Given the description of an element on the screen output the (x, y) to click on. 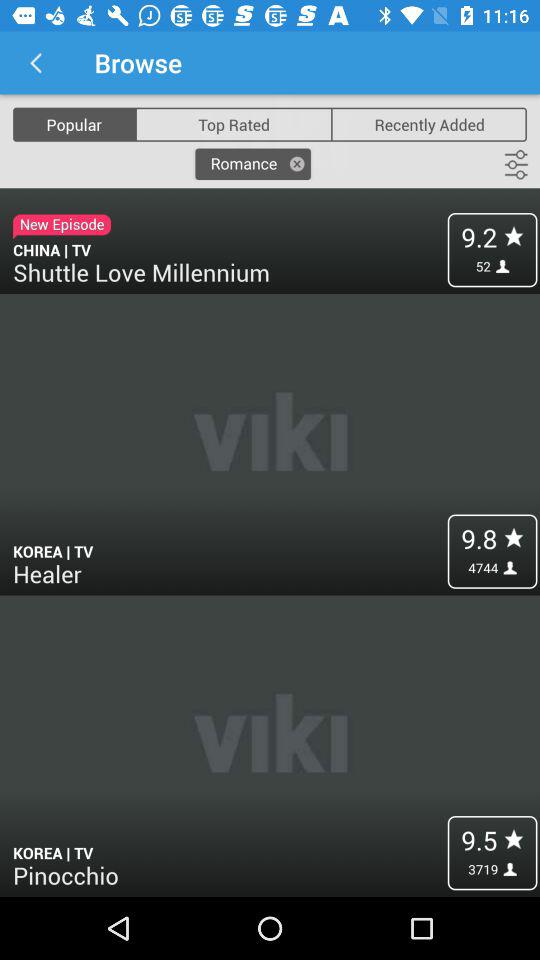
turn off the popular (74, 124)
